Given the description of an element on the screen output the (x, y) to click on. 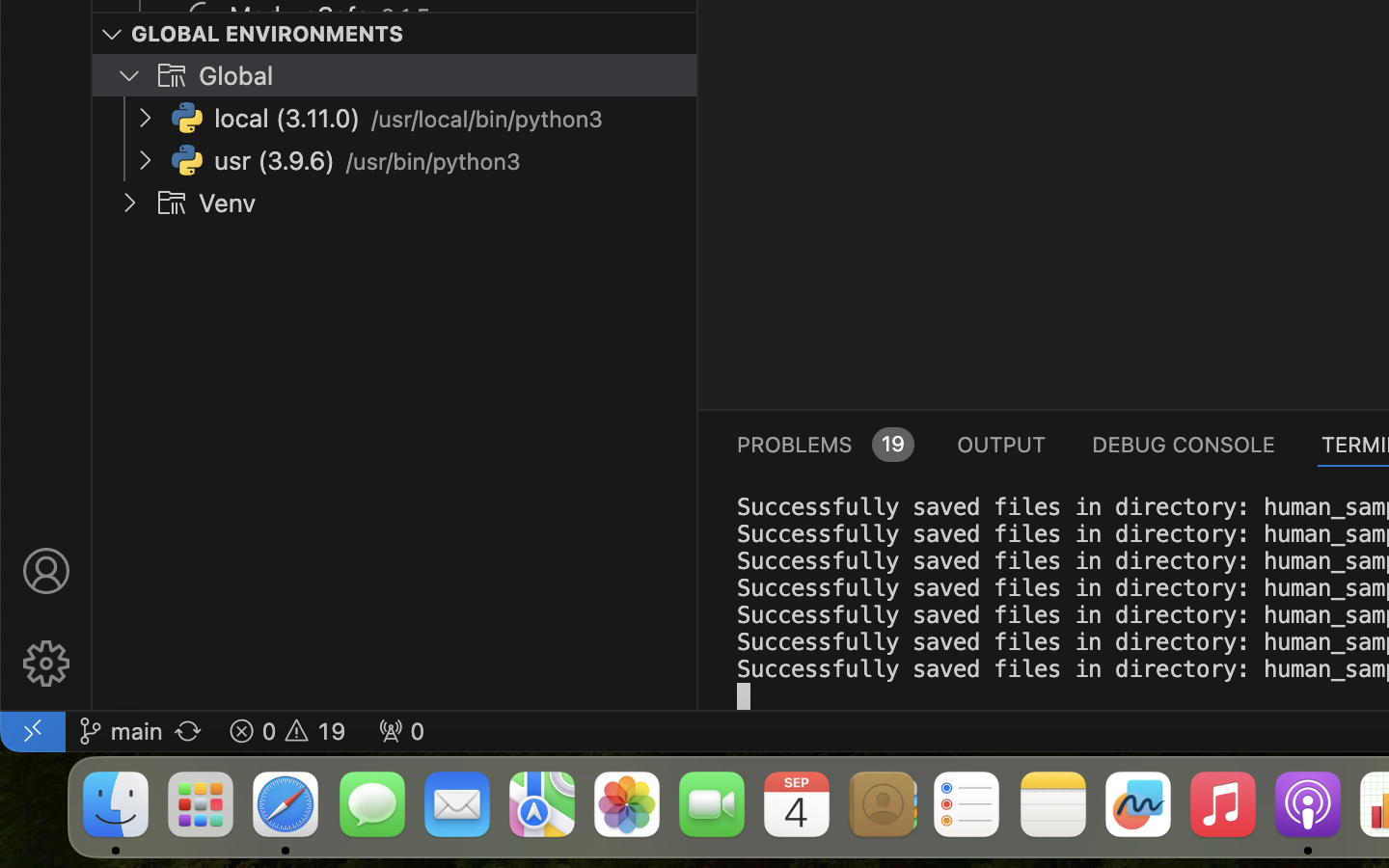
 0 Element type: AXButton (400, 730)
0 DEBUG CONSOLE Element type: AXRadioButton (1183, 443)
0 OUTPUT Element type: AXRadioButton (1001, 443)
/usr/bin/python3 Element type: AXStaticText (432, 161)
0 PROBLEMS 19 Element type: AXRadioButton (824, 443)
